Given the description of an element on the screen output the (x, y) to click on. 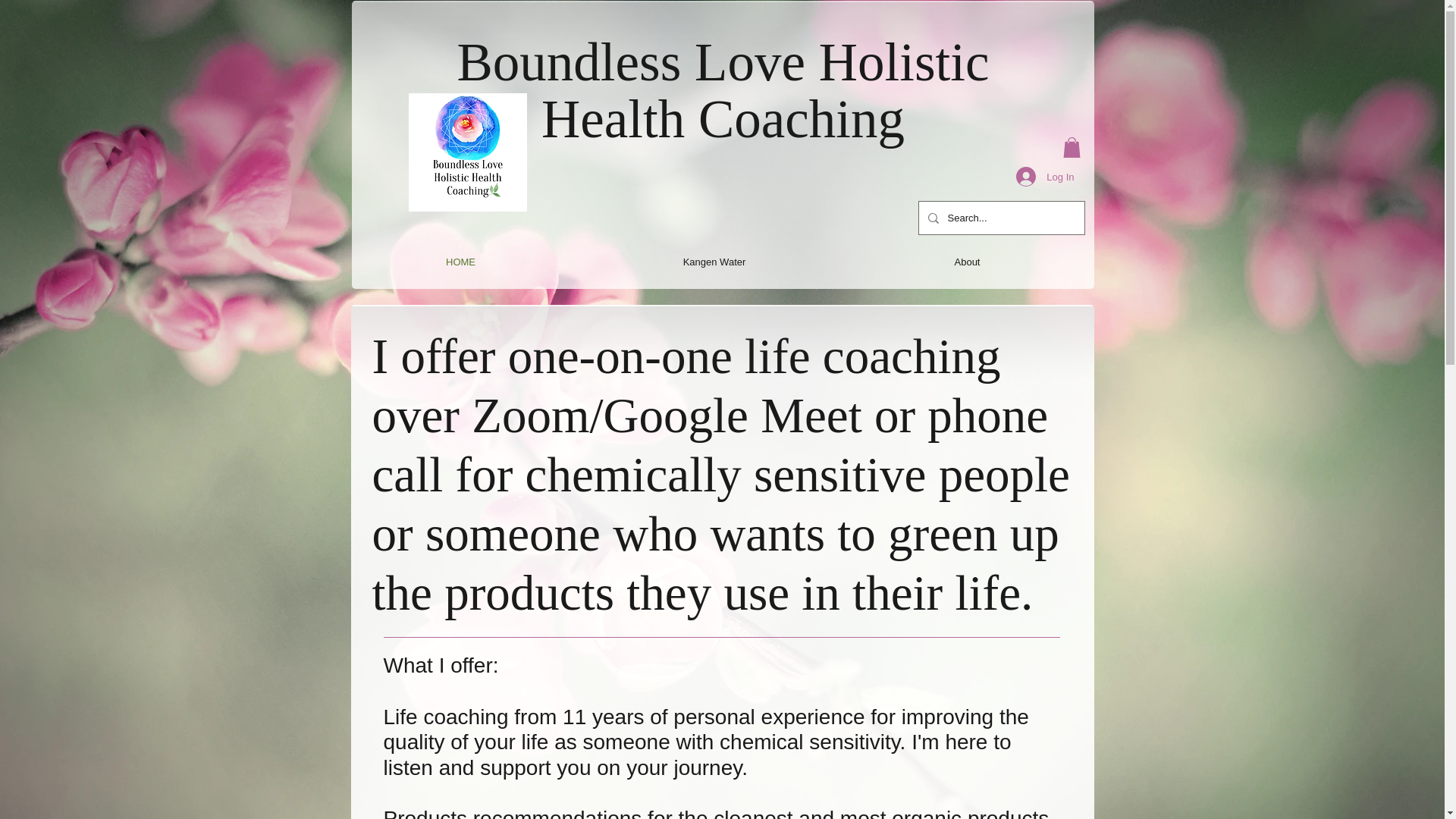
Boundless Love Holistic Health Coaching (722, 87)
HOME (460, 262)
Log In (1045, 176)
About (966, 262)
Kangen Water (714, 262)
Logo 3.png (466, 152)
